Given the description of an element on the screen output the (x, y) to click on. 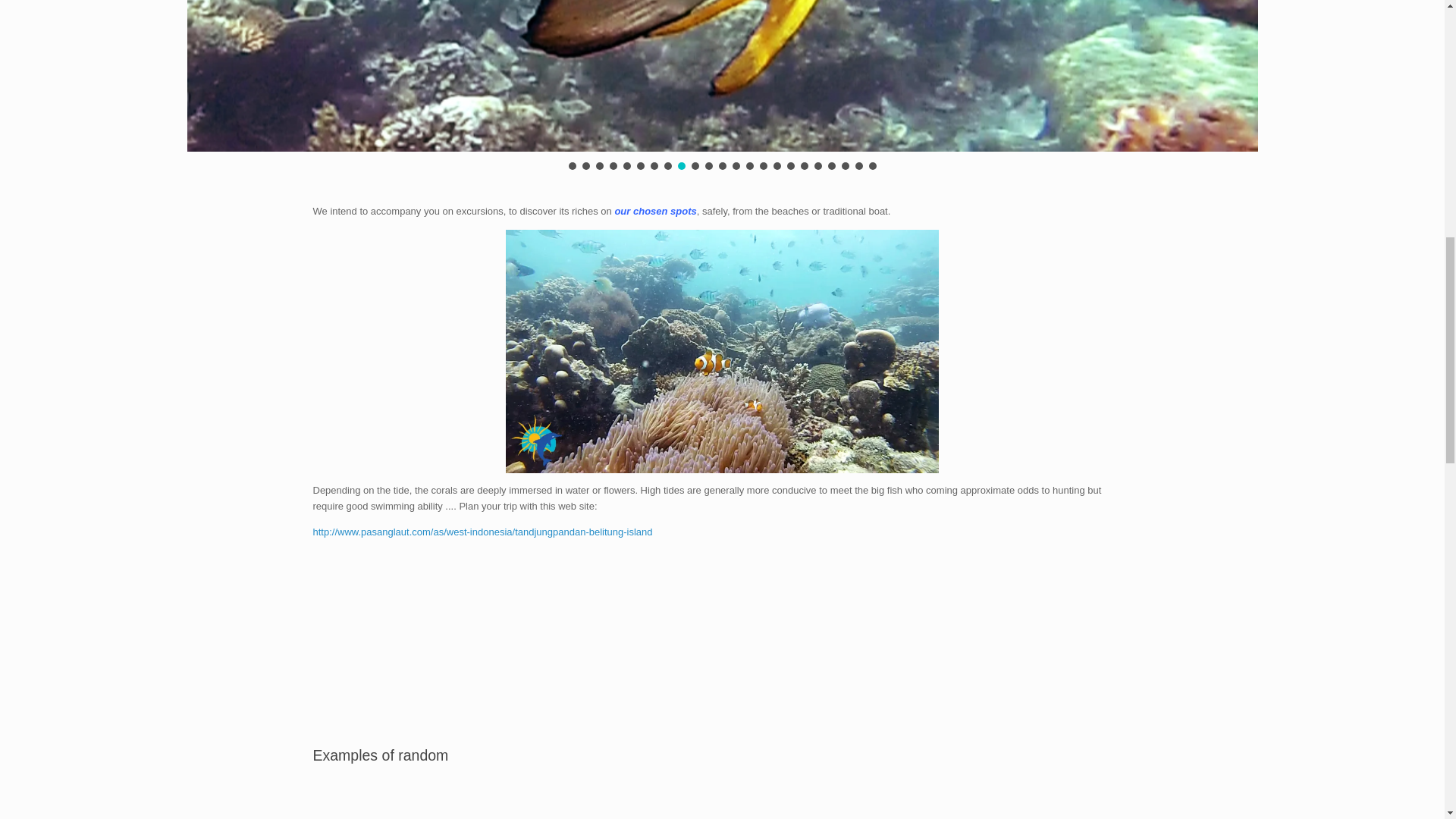
Raie Belitung Indonesie (853, 656)
Sardines Belitung Indonesie Go Belitung (590, 656)
corail Belitung (985, 656)
